Given the description of an element on the screen output the (x, y) to click on. 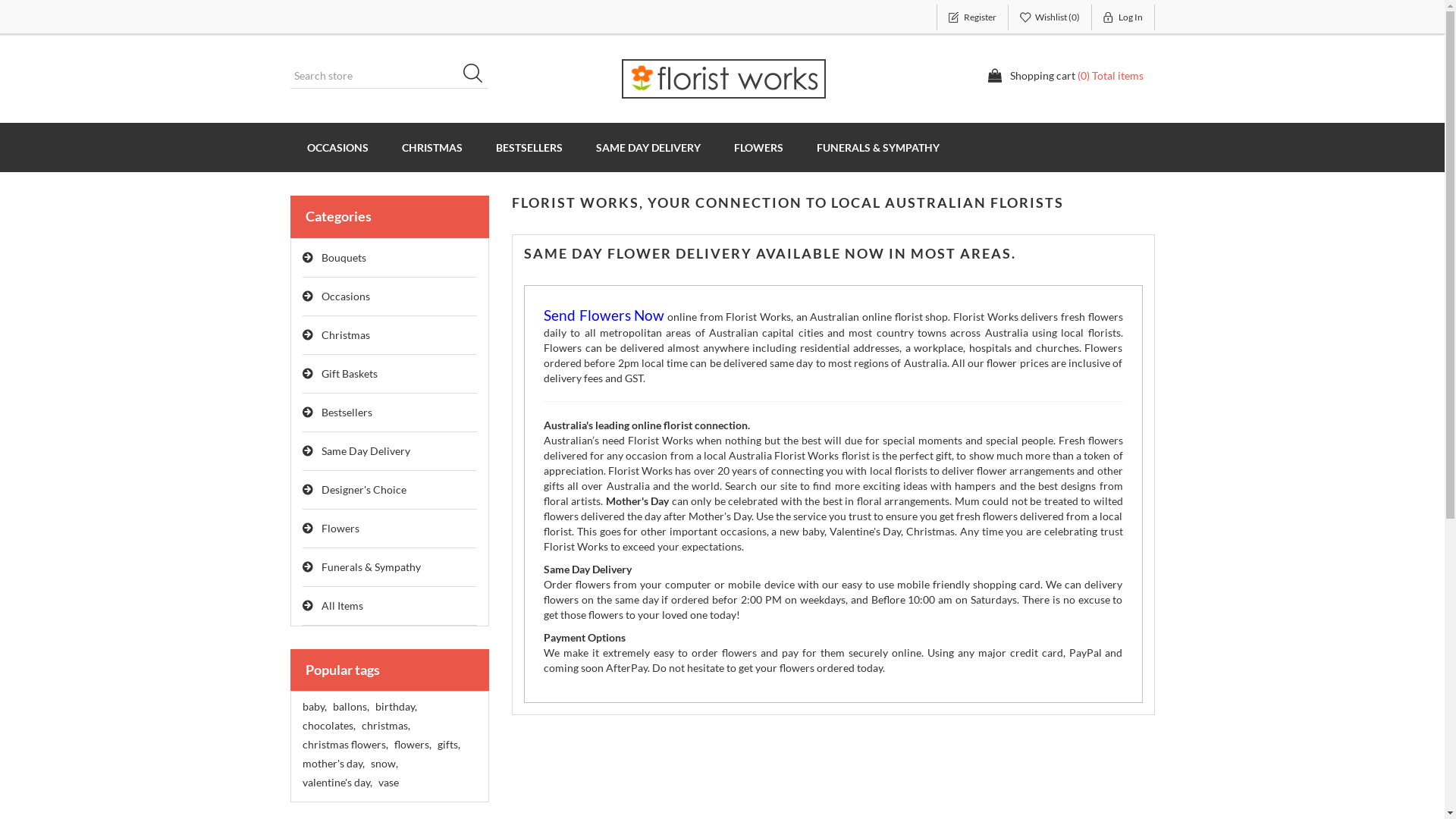
Register Element type: text (971, 17)
FLOWERS Element type: text (758, 147)
BESTSELLERS Element type: text (529, 147)
Gift Baskets Element type: text (388, 373)
Bouquets Element type: text (388, 257)
Funerals & Sympathy Element type: text (388, 567)
Designer's Choice Element type: text (388, 489)
valentine's day, Element type: text (336, 782)
birthday, Element type: text (395, 706)
Shopping cart (0) Total items Element type: text (1065, 75)
baby, Element type: text (313, 706)
chocolates, Element type: text (327, 725)
Same Day Delivery Element type: text (388, 451)
christmas, Element type: text (384, 725)
gifts, Element type: text (447, 744)
flowers, Element type: text (412, 744)
snow, Element type: text (383, 763)
Christmas Element type: text (388, 335)
Bestsellers Element type: text (388, 412)
Occasions Element type: text (388, 296)
Send Flowers Now Element type: text (603, 316)
ballons, Element type: text (350, 706)
OCCASIONS Element type: text (336, 147)
Flowers Element type: text (388, 528)
mother's day, Element type: text (332, 763)
vase Element type: text (387, 782)
FUNERALS & SYMPATHY Element type: text (877, 147)
All Items Element type: text (388, 605)
CHRISTMAS Element type: text (432, 147)
Log In Element type: text (1123, 17)
SAME DAY DELIVERY Element type: text (648, 147)
Wishlist (0) Element type: text (1050, 17)
christmas flowers, Element type: text (344, 744)
